Given the description of an element on the screen output the (x, y) to click on. 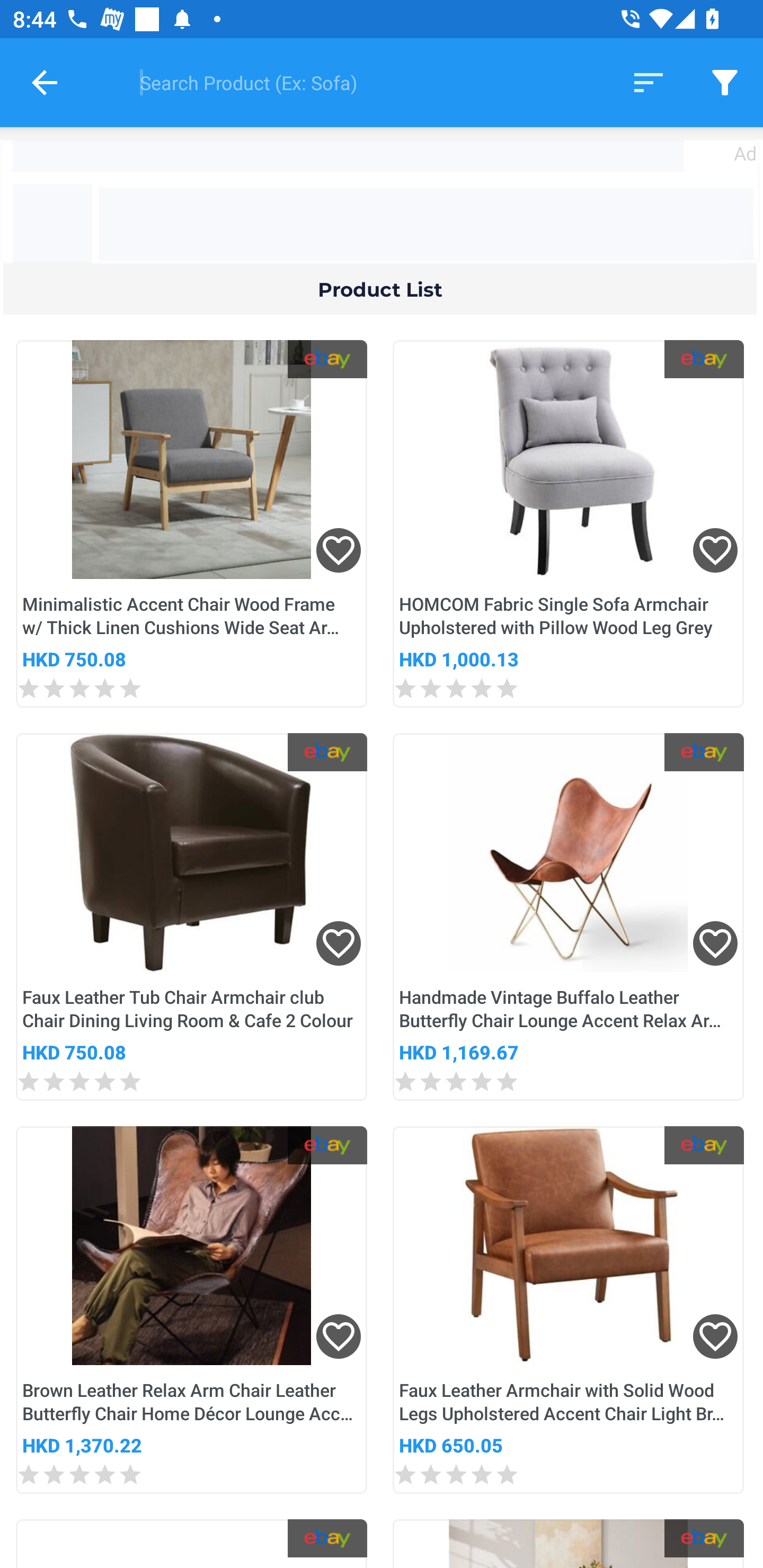
Collapse (44, 82)
short (648, 81)
short (724, 81)
Search Product (Ex: Sofa) (362, 82)
